Given the description of an element on the screen output the (x, y) to click on. 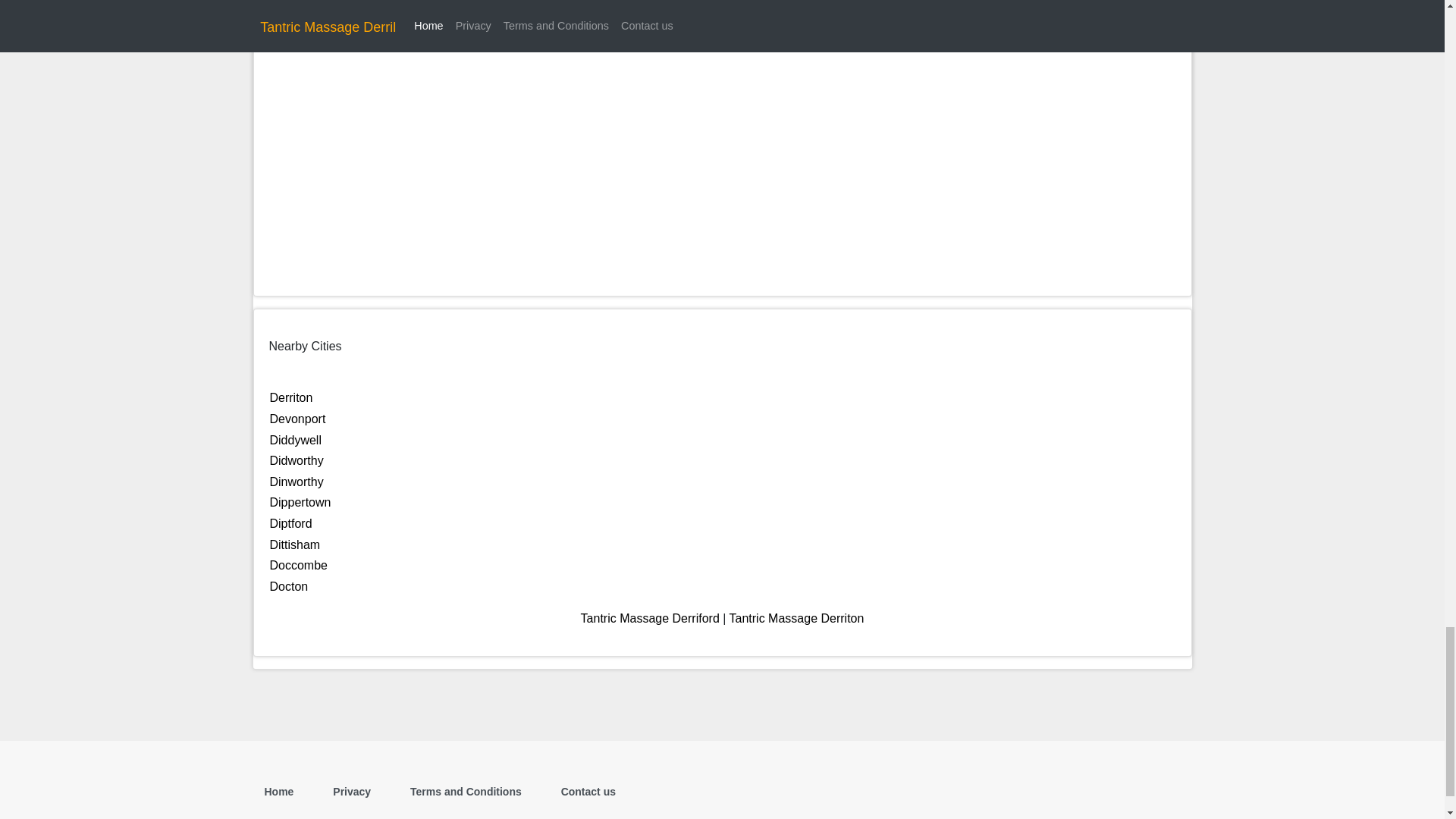
Dinworthy (296, 481)
Docton (288, 585)
Dippertown (300, 502)
Devonport (297, 418)
Doccombe (298, 564)
Tantric Massage Derriton (796, 617)
Diptford (291, 522)
Diddywell (295, 440)
Didworthy (296, 460)
Tantric Massage Derriford (649, 617)
Dittisham (294, 544)
Derriton (291, 397)
